Given the description of an element on the screen output the (x, y) to click on. 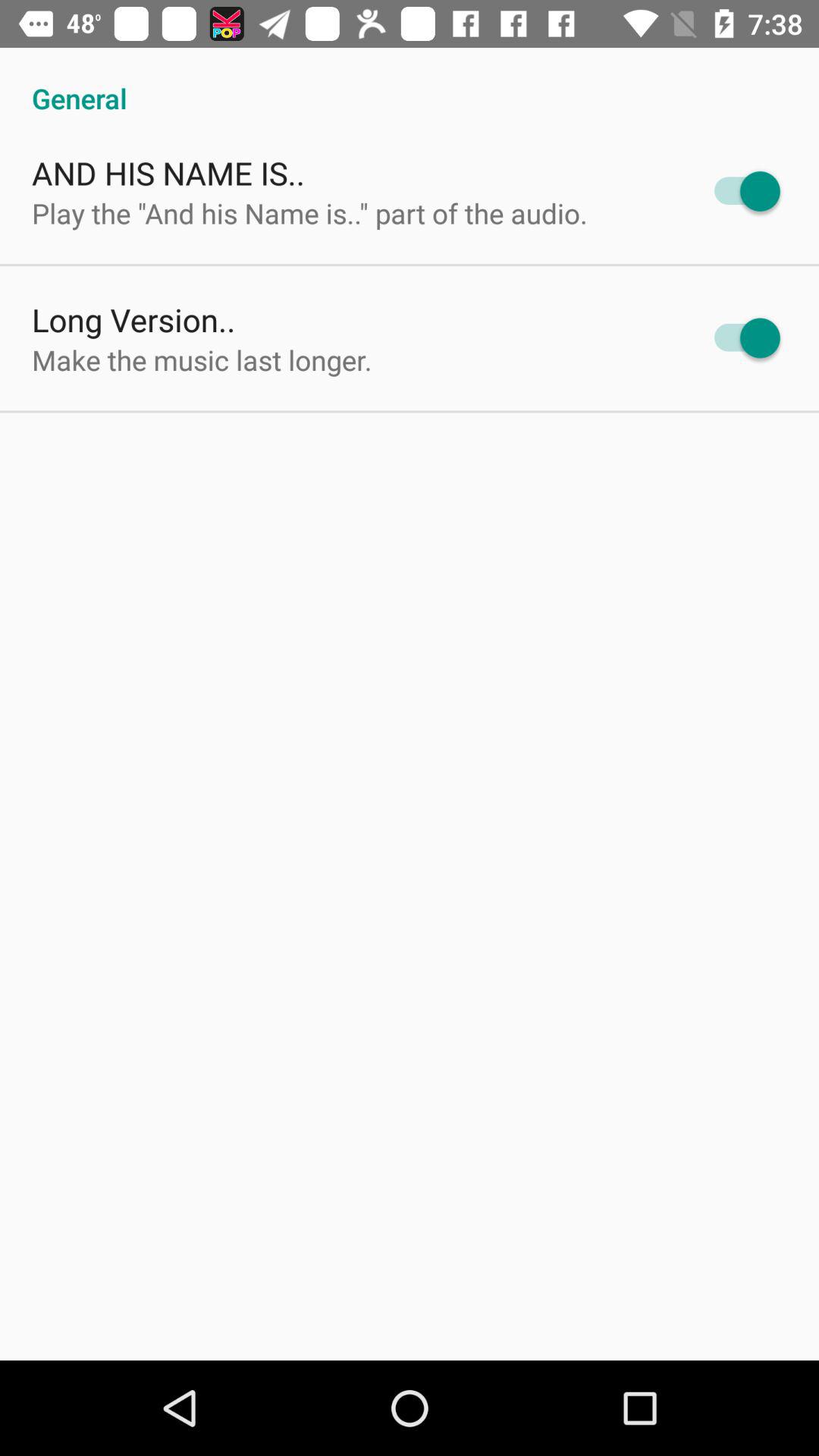
tap the icon above the make the music item (133, 319)
